Given the description of an element on the screen output the (x, y) to click on. 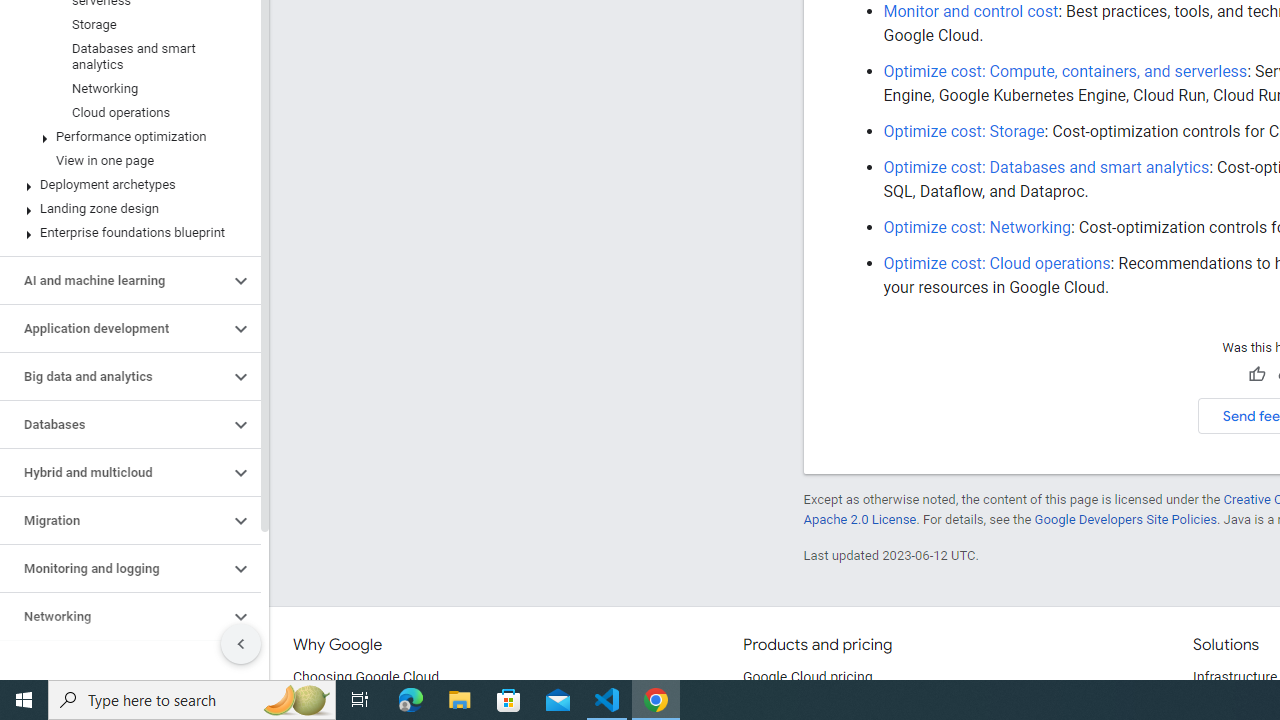
Apache 2.0 License (859, 519)
Optimize cost: Cloud operations (997, 263)
Big data and analytics (114, 376)
Helpful (1256, 375)
Google Developers Site Policies (1125, 519)
Monitoring and logging (114, 569)
Optimize cost: Networking (977, 227)
Optimize cost: Databases and smart analytics (1046, 167)
Storage (126, 24)
Deployment archetypes (126, 184)
Hide side navigation (241, 643)
Cloud operations (126, 112)
Migration (114, 520)
View in one page (126, 160)
